Given the description of an element on the screen output the (x, y) to click on. 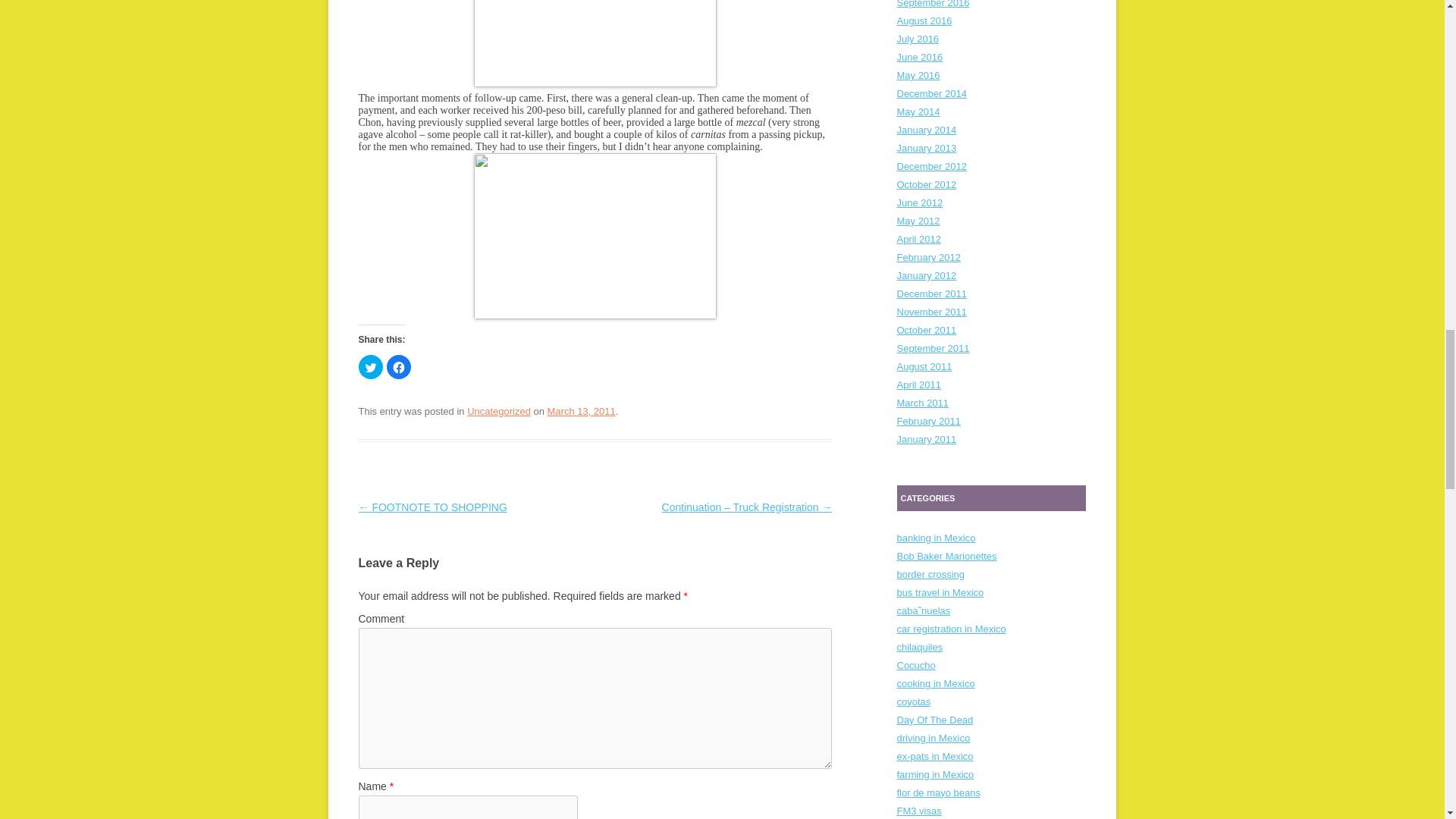
6:50 PM (581, 410)
Click to share on Facebook (398, 366)
March 13, 2011 (581, 410)
Click to share on Twitter (369, 366)
Uncategorized (499, 410)
